Given the description of an element on the screen output the (x, y) to click on. 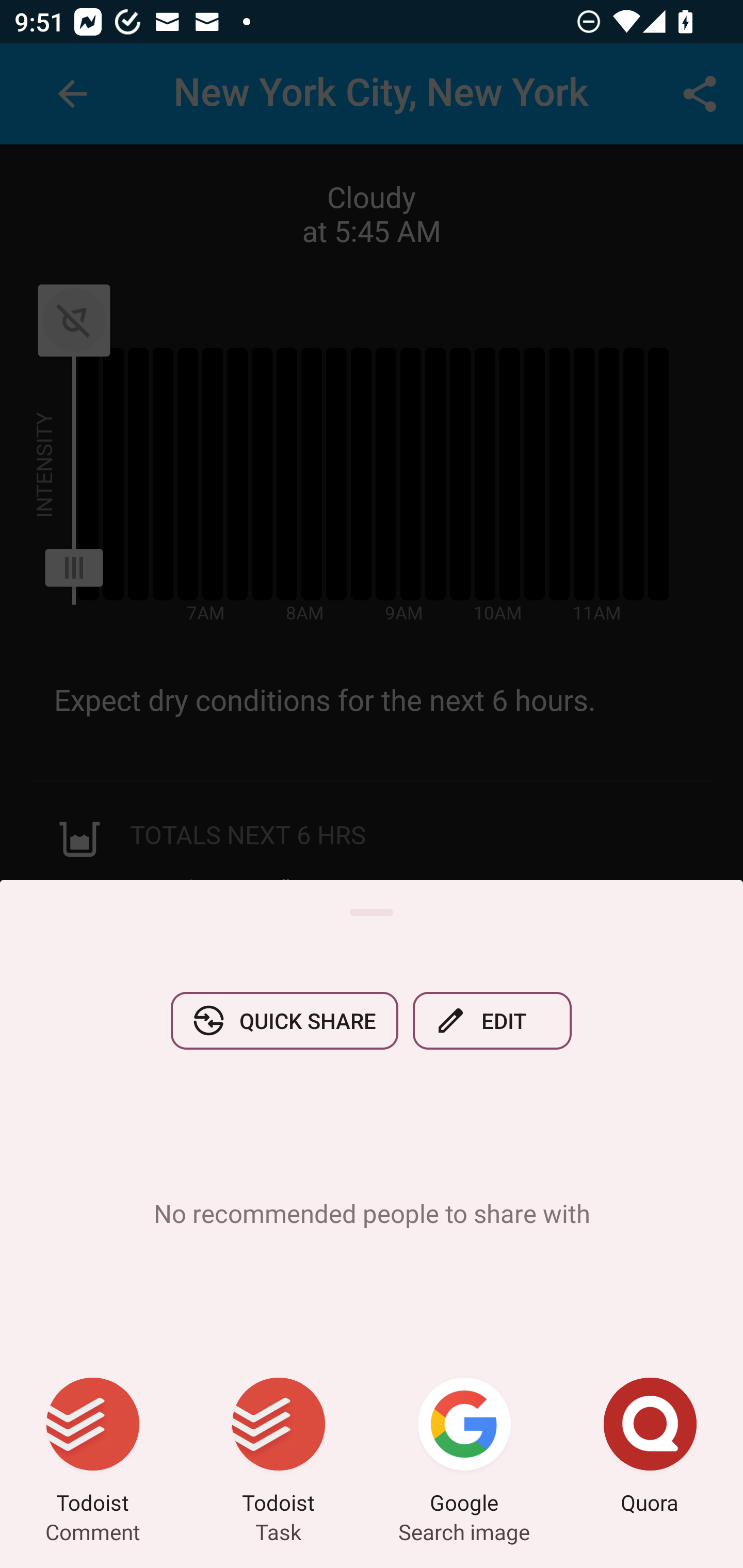
QUICK SHARE (284, 1020)
EDIT (492, 1020)
Todoist Comment (92, 1448)
Todoist Task (278, 1448)
Google Search image (464, 1448)
Quora (650, 1448)
